Given the description of an element on the screen output the (x, y) to click on. 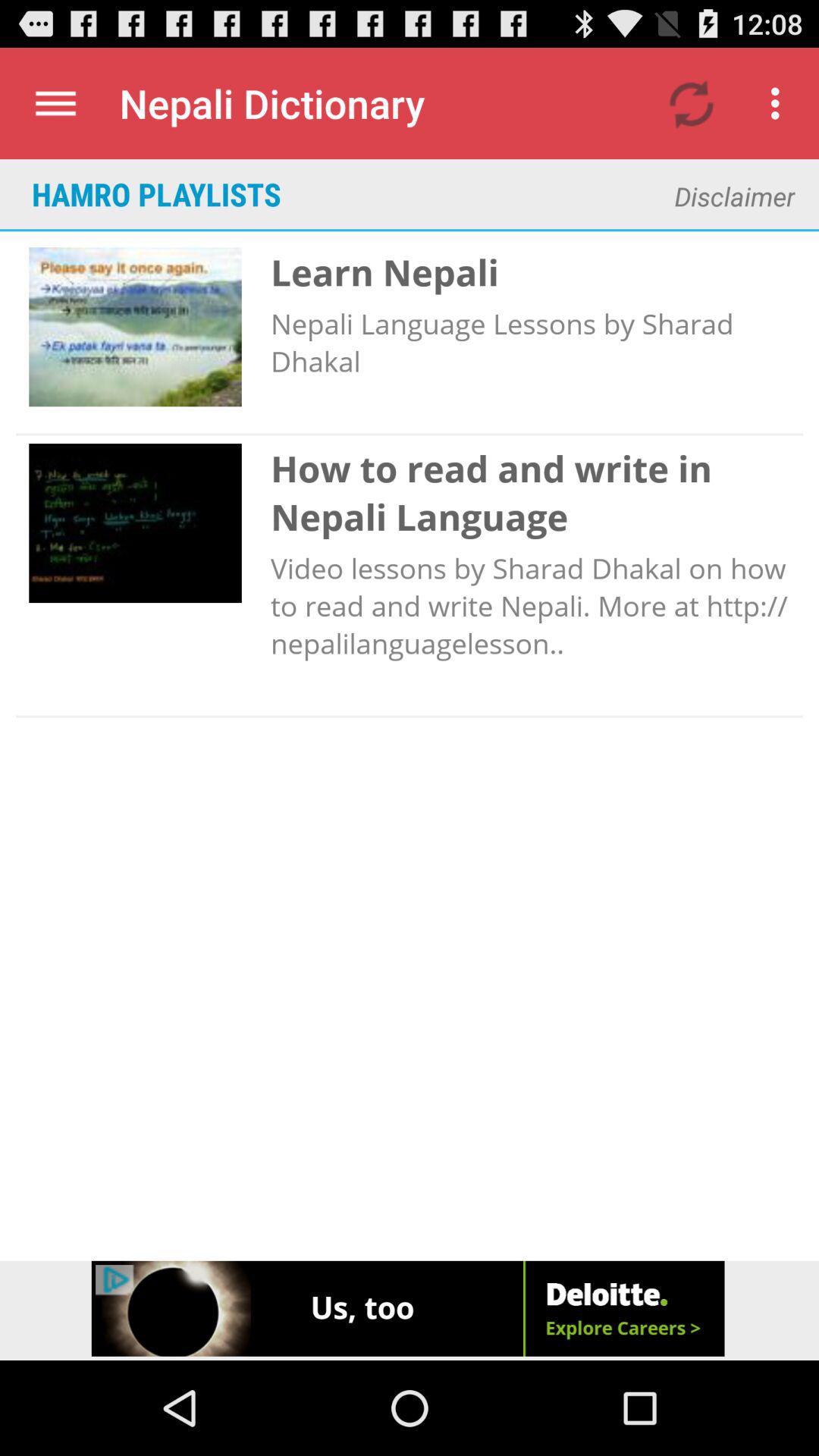
go to advert (409, 1310)
